Given the description of an element on the screen output the (x, y) to click on. 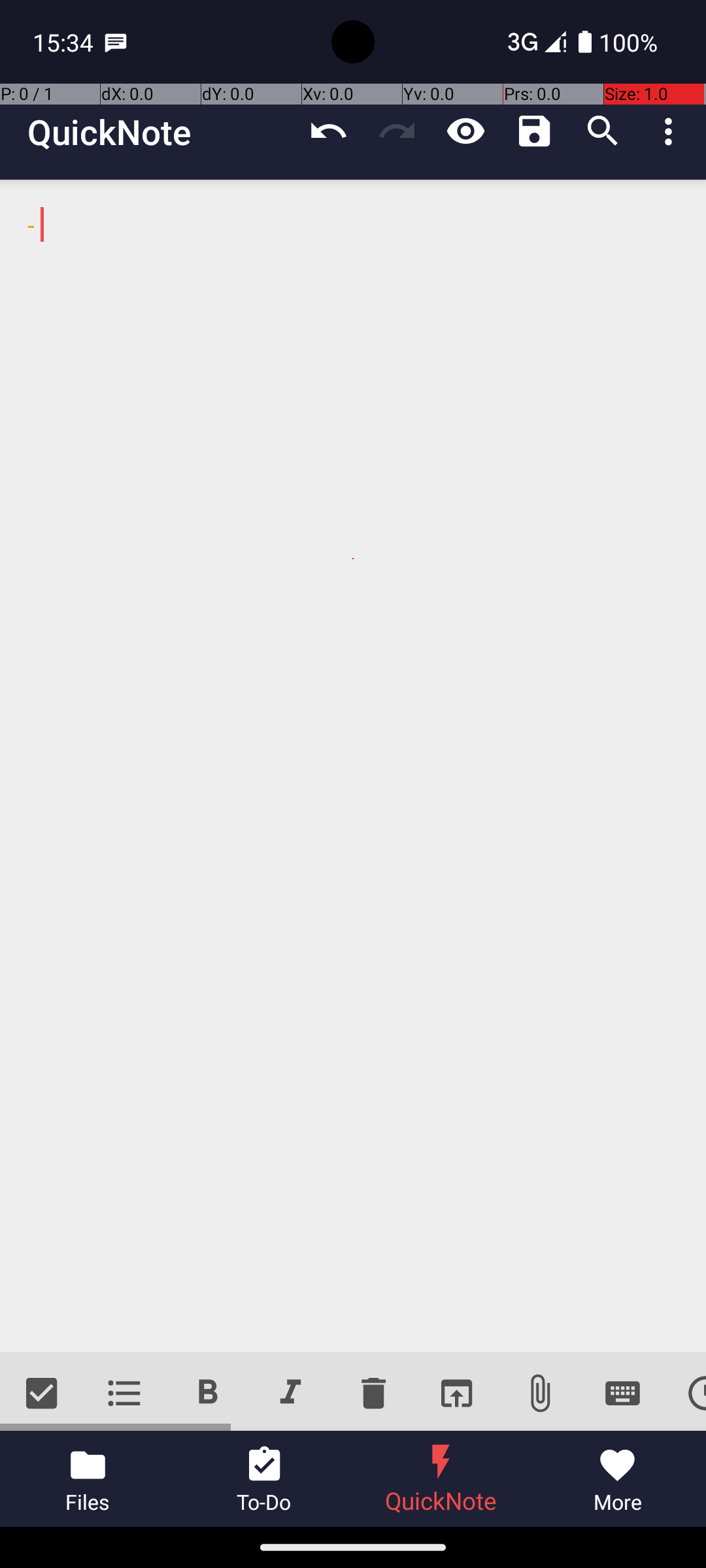
-  Element type: android.widget.EditText (353, 765)
